Given the description of an element on the screen output the (x, y) to click on. 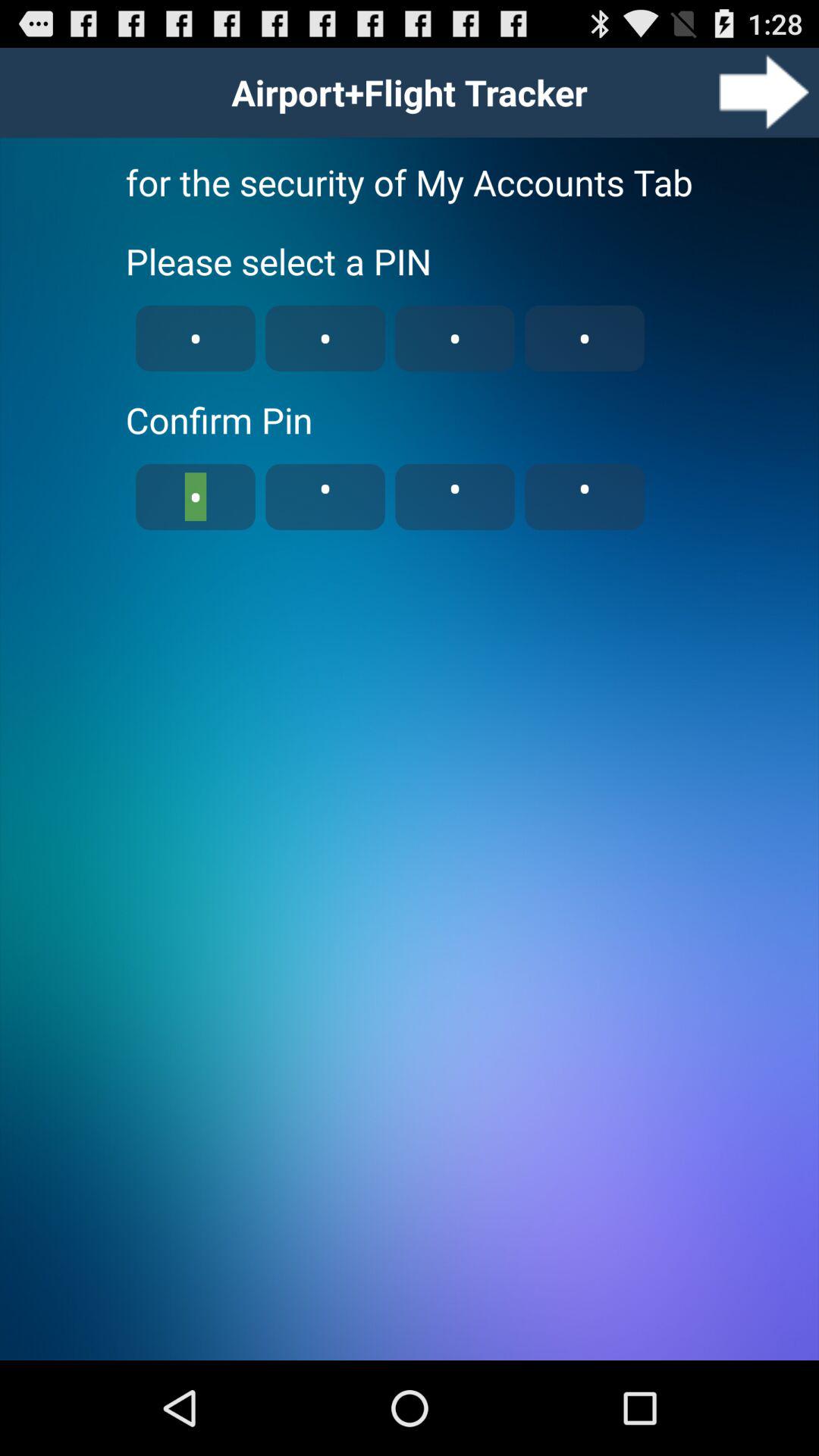
click on the third code box below confirm pin (454, 496)
click on the first field below the confirm pin (195, 496)
click on button next to airportflight tracker (764, 93)
click on the second code box below please select a pin (324, 338)
